Given the description of an element on the screen output the (x, y) to click on. 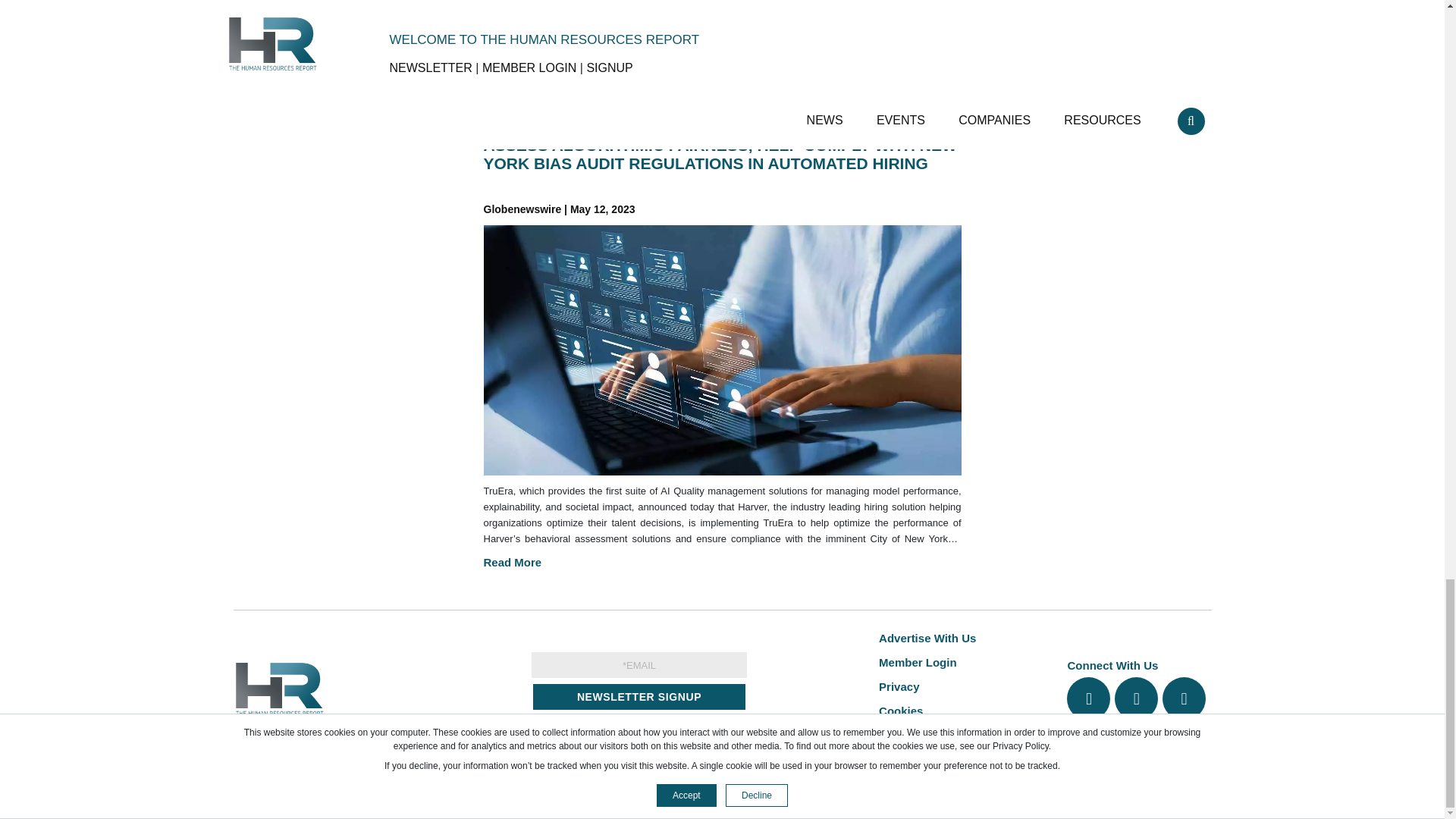
Newsletter Signup (638, 696)
